Given the description of an element on the screen output the (x, y) to click on. 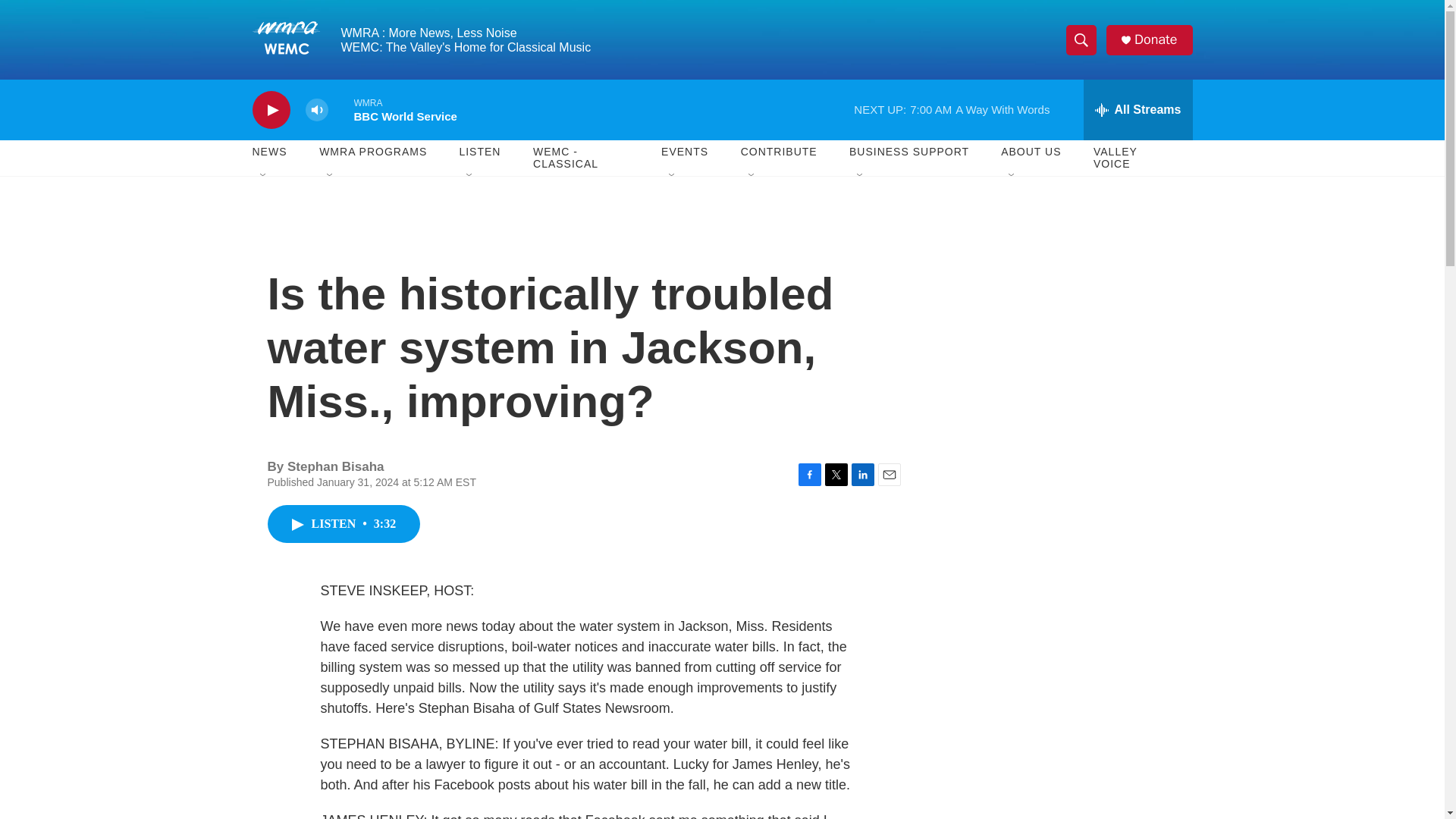
3rd party ad content (1062, 316)
